Given the description of an element on the screen output the (x, y) to click on. 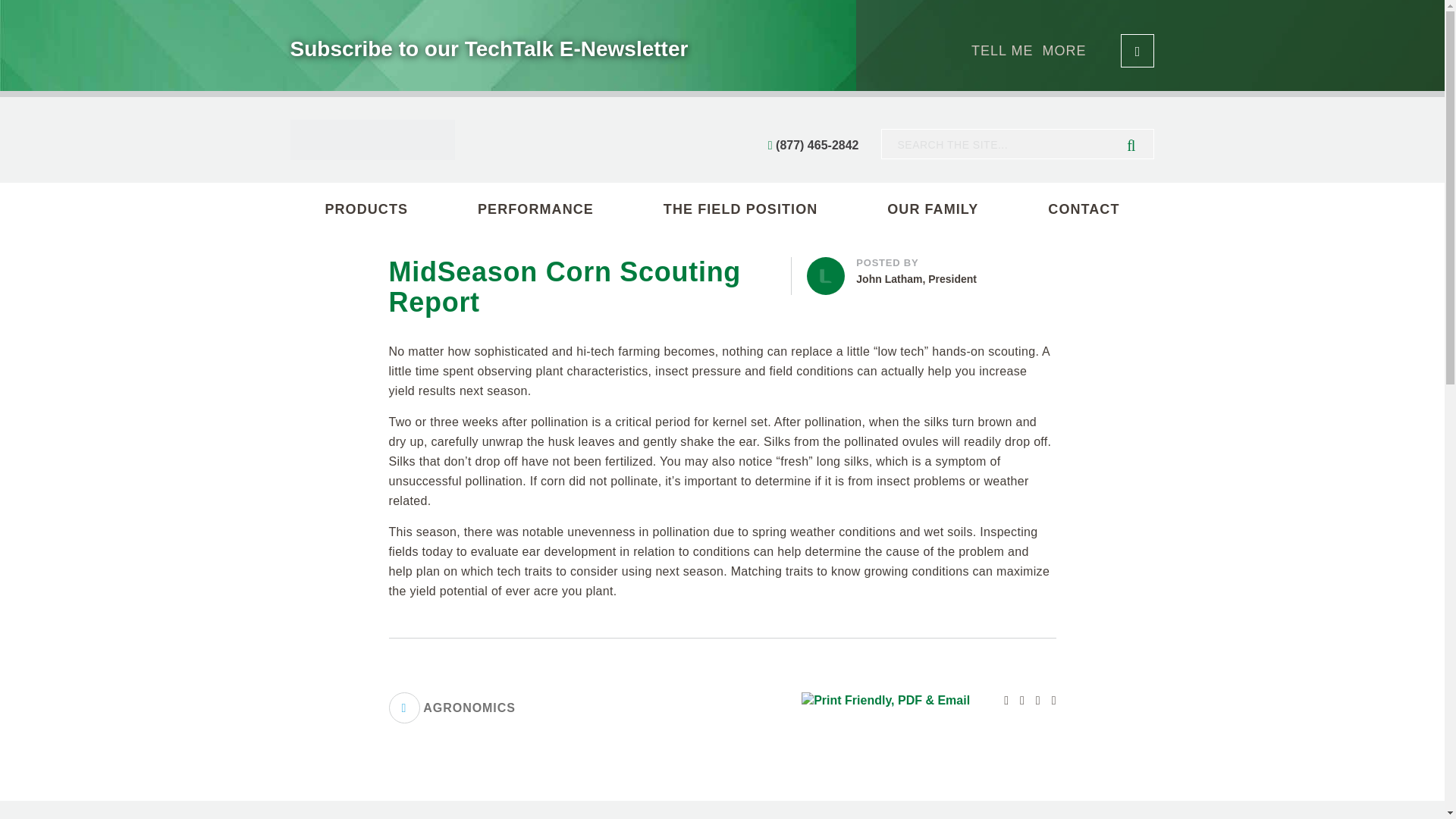
RSS Feed (1049, 701)
PERFORMANCE (535, 209)
AGRONOMICS (930, 271)
OUR FAMILY (451, 707)
TELL ME  MORE (932, 209)
PRODUCTS (1062, 50)
THE FIELD POSITION (365, 209)
CONTACT (739, 209)
